Given the description of an element on the screen output the (x, y) to click on. 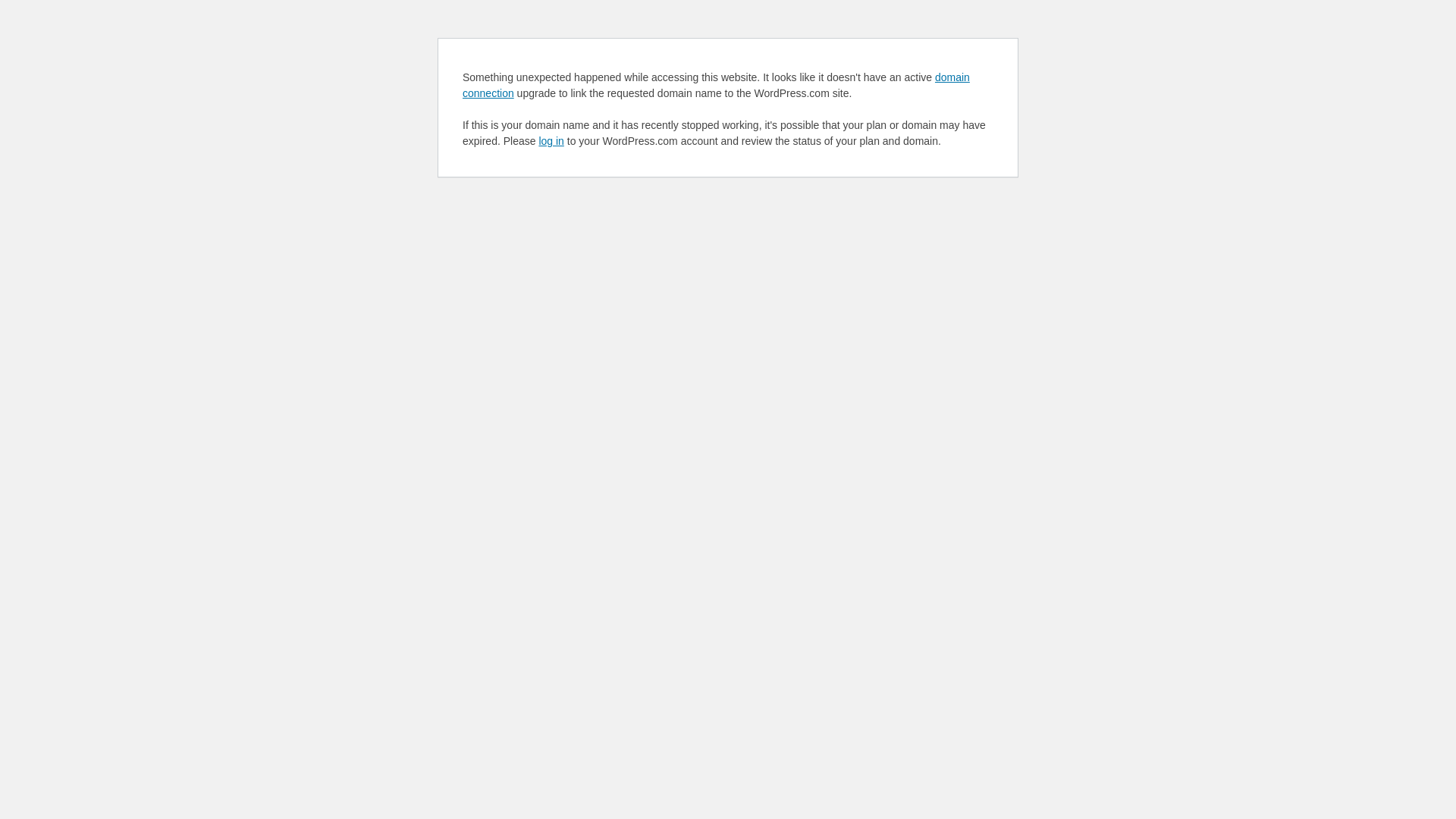
domain connection Element type: text (715, 85)
log in Element type: text (550, 140)
